Given the description of an element on the screen output the (x, y) to click on. 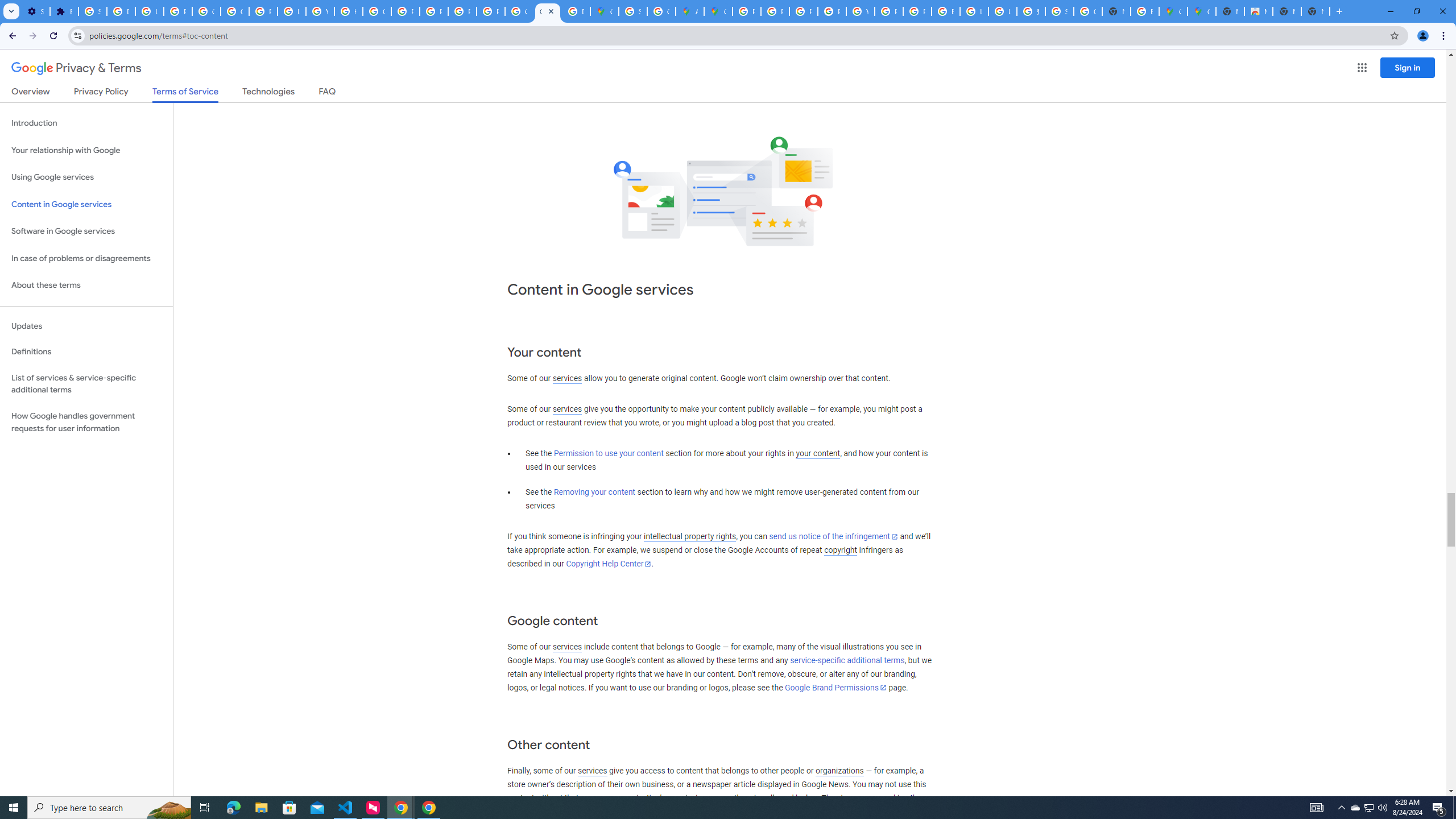
Software in Google services (86, 230)
https://scholar.google.com/ (348, 11)
Using Google services (86, 176)
Privacy Help Center - Policies Help (774, 11)
Your relationship with Google (86, 150)
YouTube (320, 11)
About these terms (86, 284)
